Given the description of an element on the screen output the (x, y) to click on. 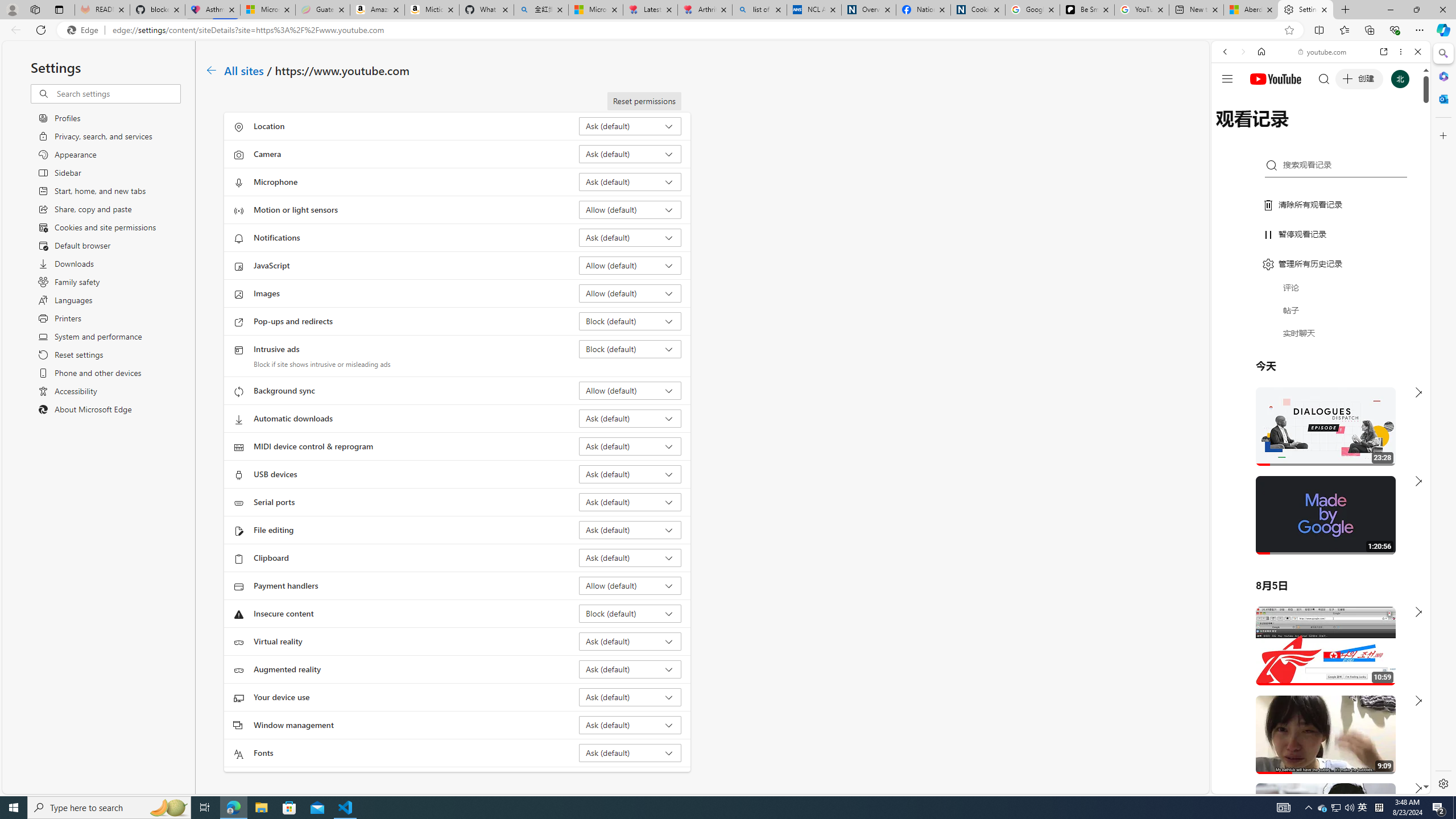
Class: dict_pnIcon rms_img (1312, 784)
Window management Ask (default) (630, 724)
Show More Music (1390, 310)
Microphone Ask (default) (630, 181)
Class: c01162 (210, 70)
